Given the description of an element on the screen output the (x, y) to click on. 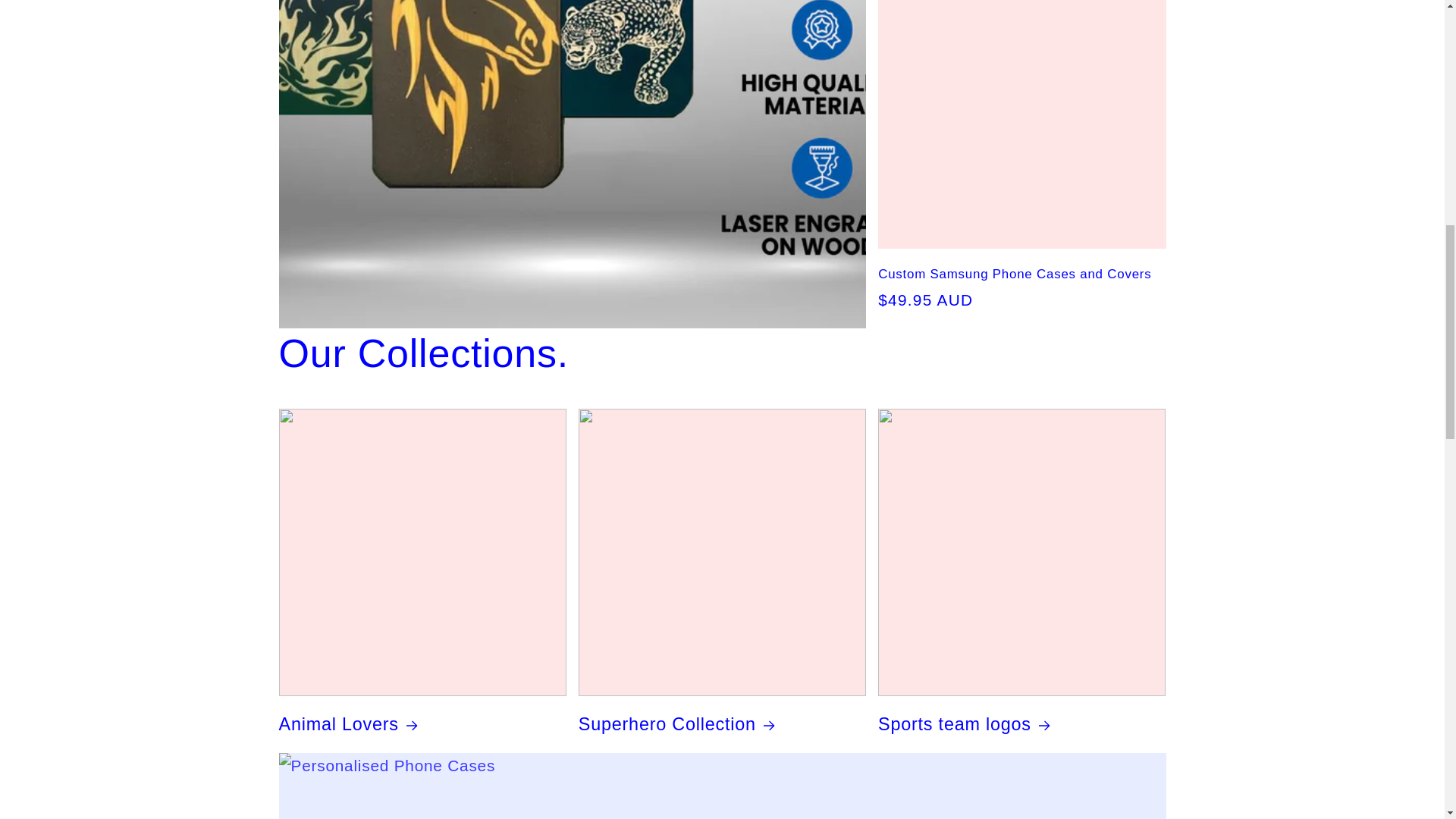
Animal Lovers (422, 723)
Superhero Collection (722, 723)
Sports team logos (1021, 723)
Custom Samsung Phone Cases and Covers (1021, 274)
